Given the description of an element on the screen output the (x, y) to click on. 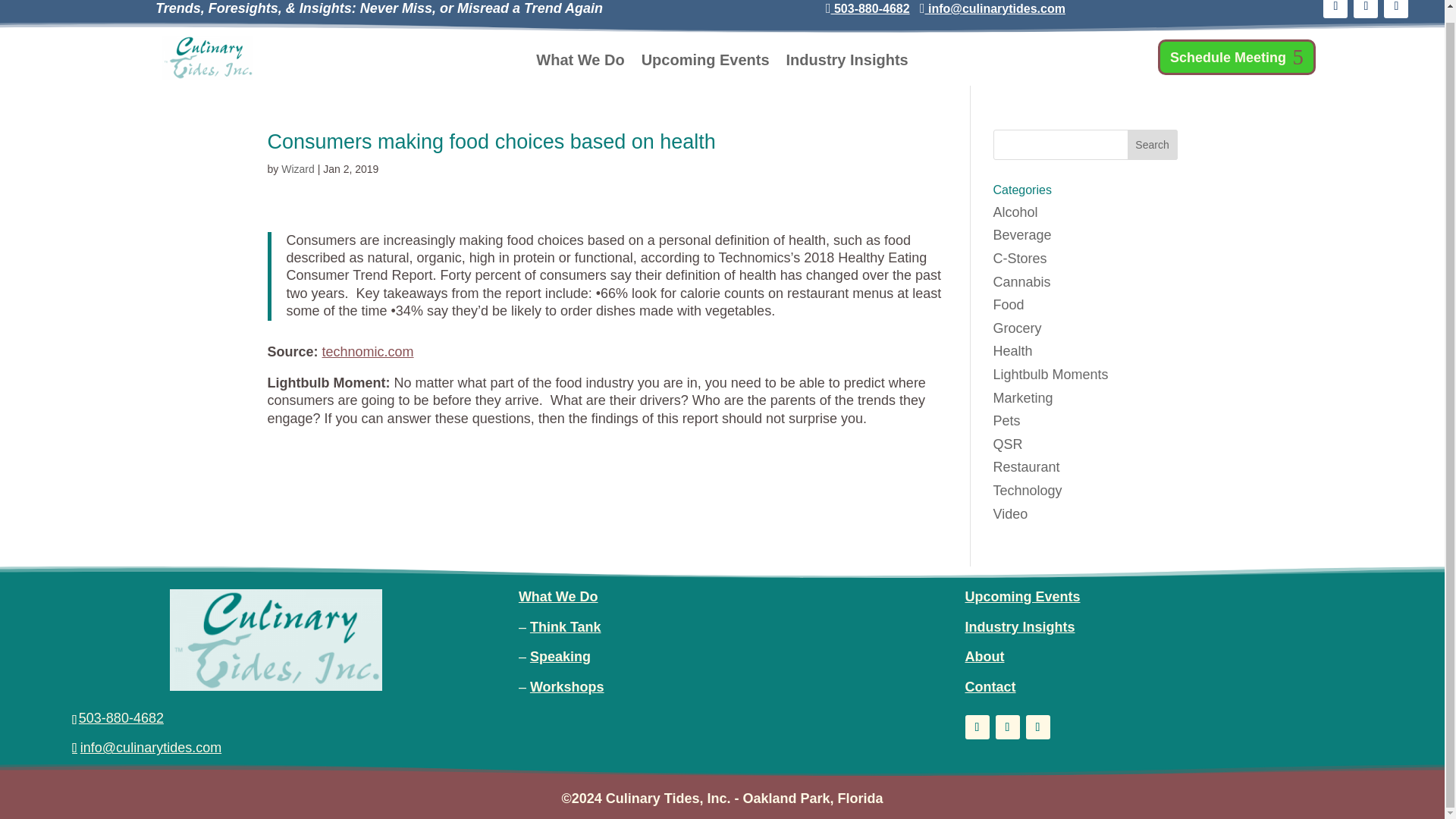
Lightbulb Moments (1050, 374)
Alcohol (1015, 212)
Posts by Wizard (297, 168)
Culinary-Tides-Logo (207, 57)
What We Do (558, 596)
Search (1151, 144)
Health (1012, 350)
About (983, 656)
Technology (1027, 490)
Grocery (1017, 328)
technomic.com (367, 351)
Workshops (566, 686)
Follow on Youtube (1037, 726)
Cannabis (1021, 281)
Wizard (297, 168)
